Given the description of an element on the screen output the (x, y) to click on. 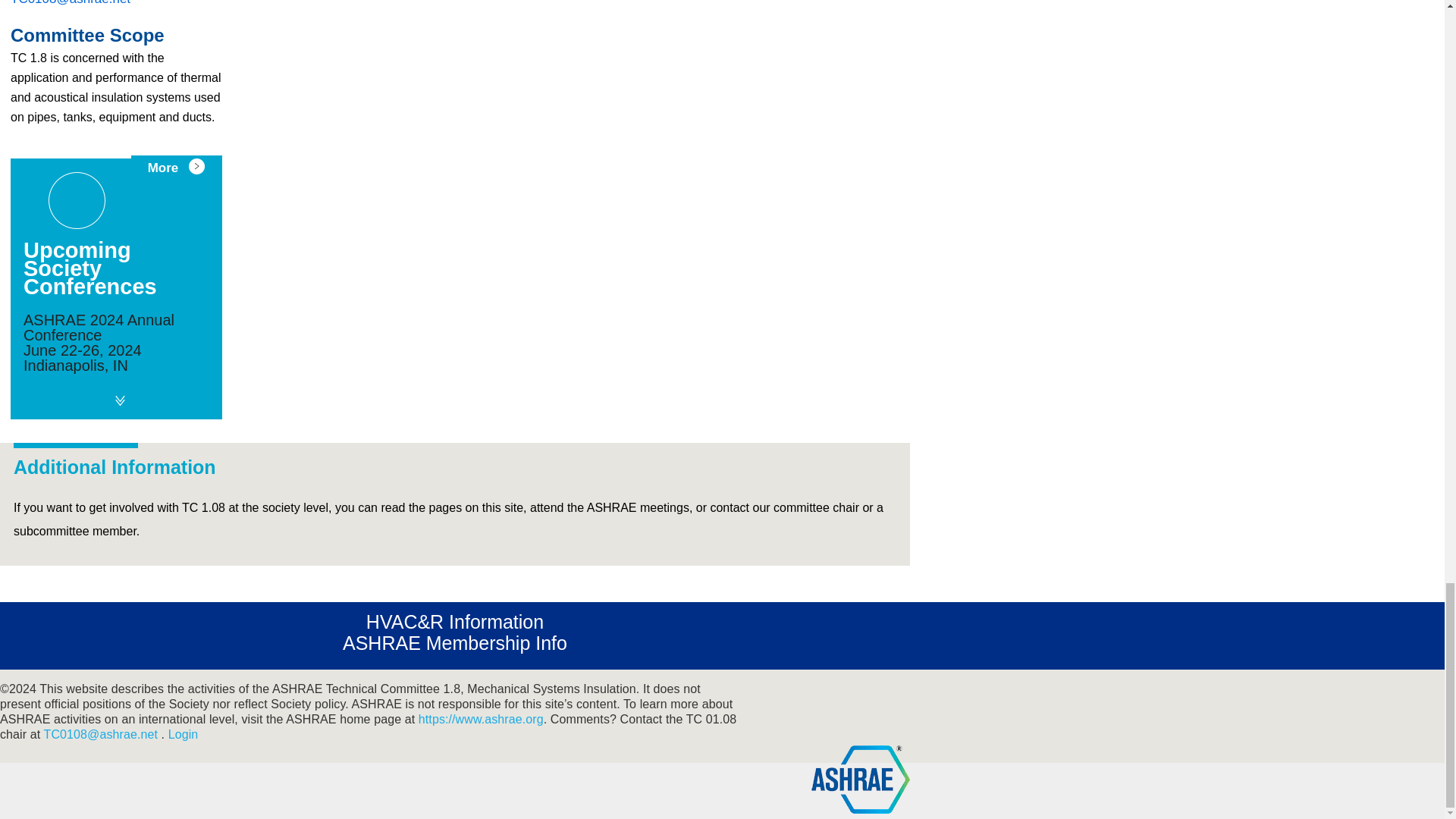
ASHRAE Membership Info (454, 642)
More (176, 168)
